Given the description of an element on the screen output the (x, y) to click on. 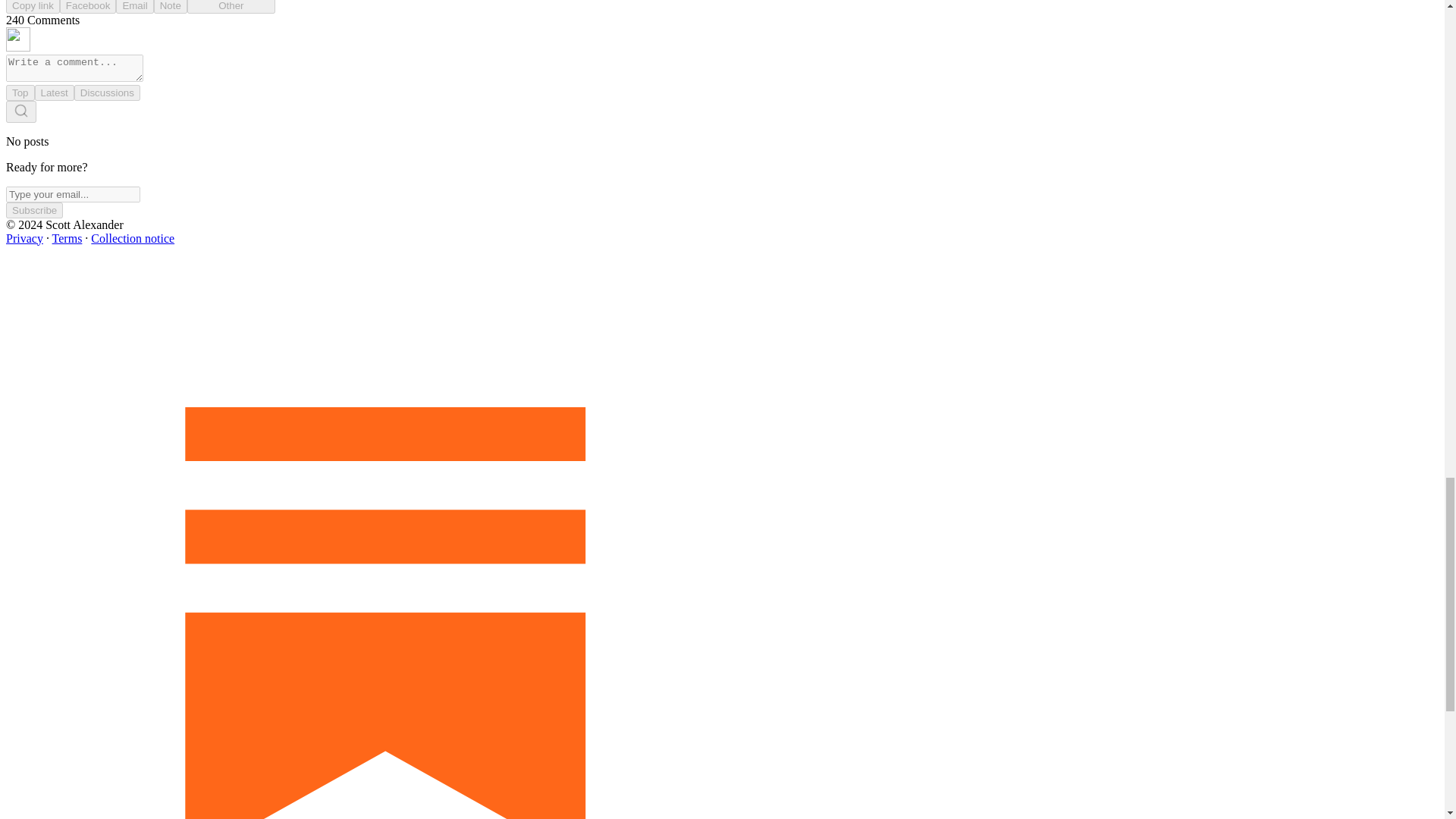
Facebook (87, 6)
Email (134, 6)
Copy link (32, 6)
